Given the description of an element on the screen output the (x, y) to click on. 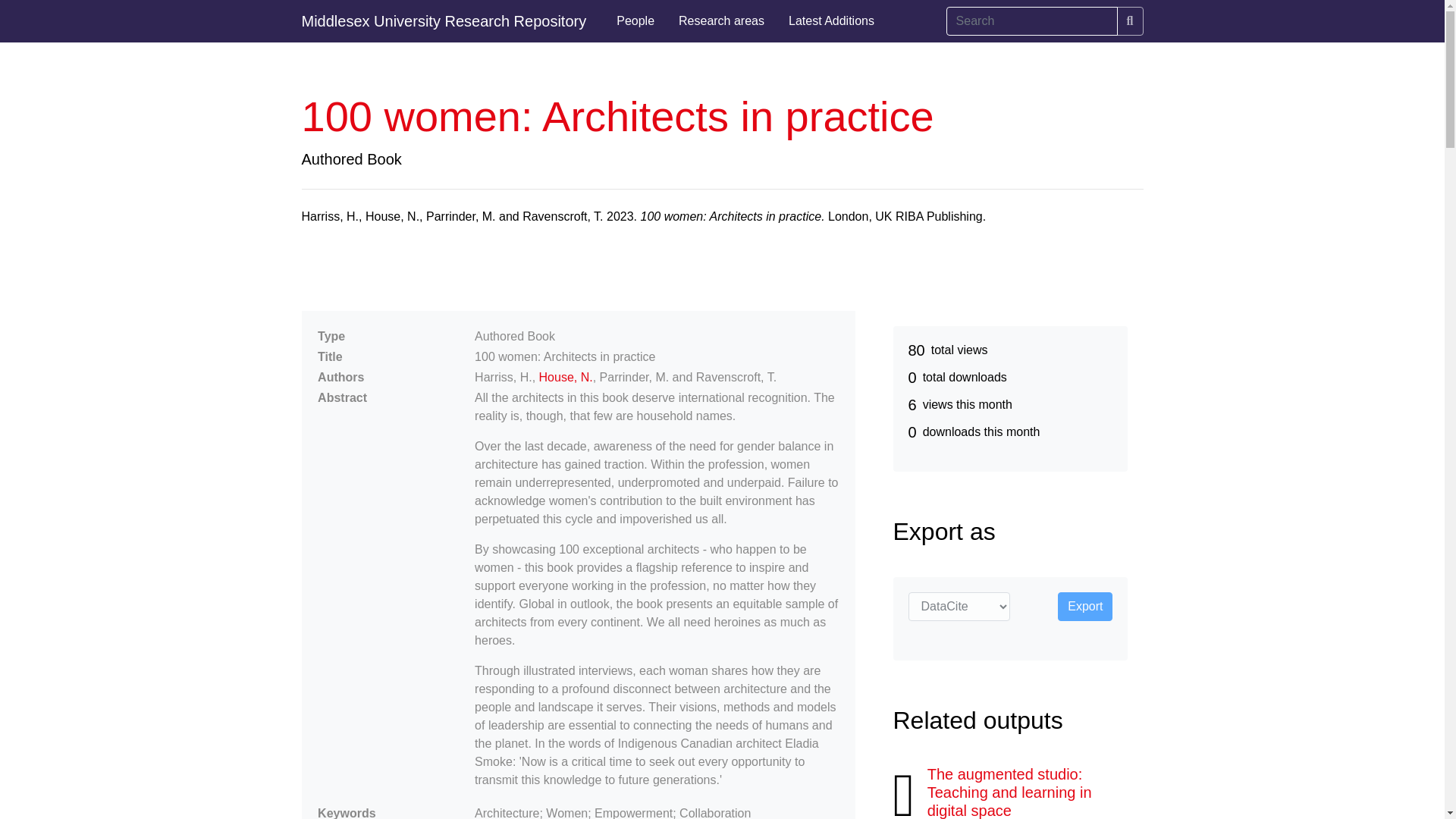
People (635, 21)
Latest Additions (831, 21)
Research areas (721, 21)
The augmented studio: Teaching and learning in digital space (1009, 792)
Export (1085, 606)
House, N. (565, 377)
Middlesex University Research Repository (443, 20)
